Given the description of an element on the screen output the (x, y) to click on. 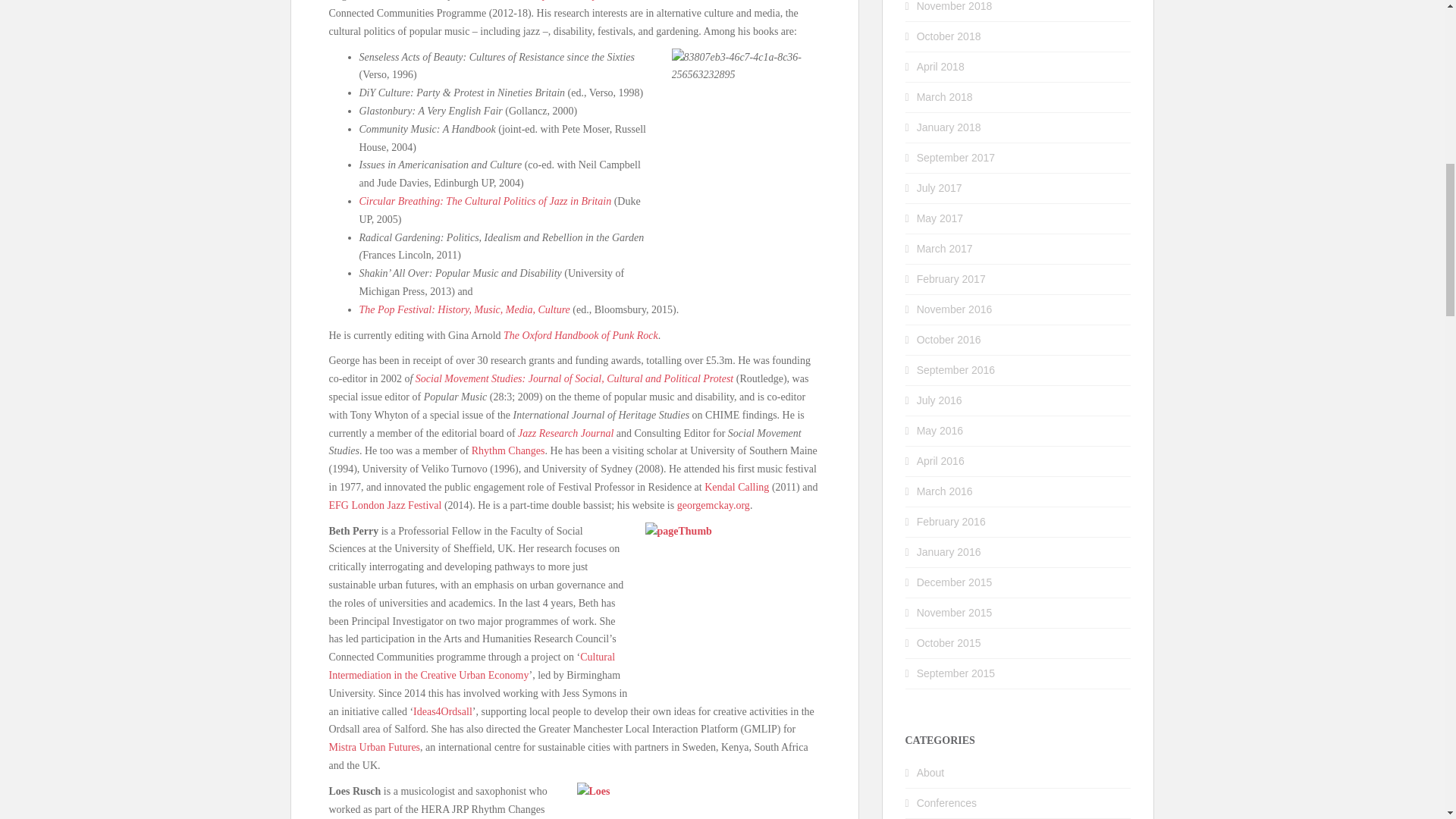
Ideas4Ordsall (442, 711)
Circular Breathing: The Cultural Politics of Jazz in Britain (485, 201)
The Pop Festival: History, Music, Media, Culture (464, 309)
SMS website (573, 378)
Jazz Research Journal (565, 432)
Rhythm Changes (507, 450)
Kendal Calling (736, 487)
Cultural Intermediation in the Creative Urban Economy (472, 665)
